Given the description of an element on the screen output the (x, y) to click on. 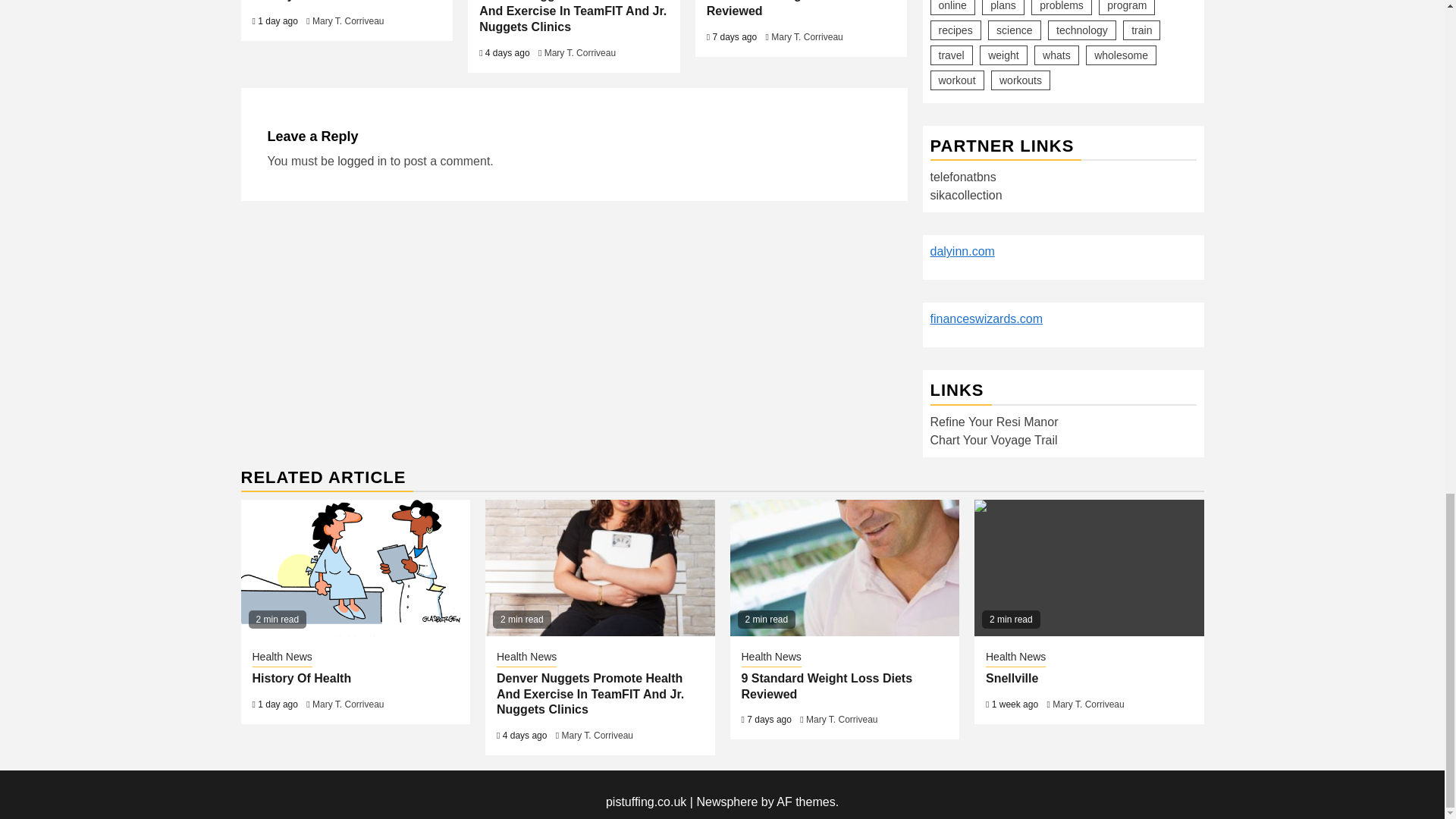
9 Standard Weight Loss Diets Reviewed (791, 8)
Mary T. Corriveau (579, 52)
logged in (362, 160)
Mary T. Corriveau (807, 36)
History Of Health (300, 0)
9 Standard Weight Loss Diets Reviewed (844, 567)
Mary T. Corriveau (348, 20)
History Of Health (355, 567)
